Given the description of an element on the screen output the (x, y) to click on. 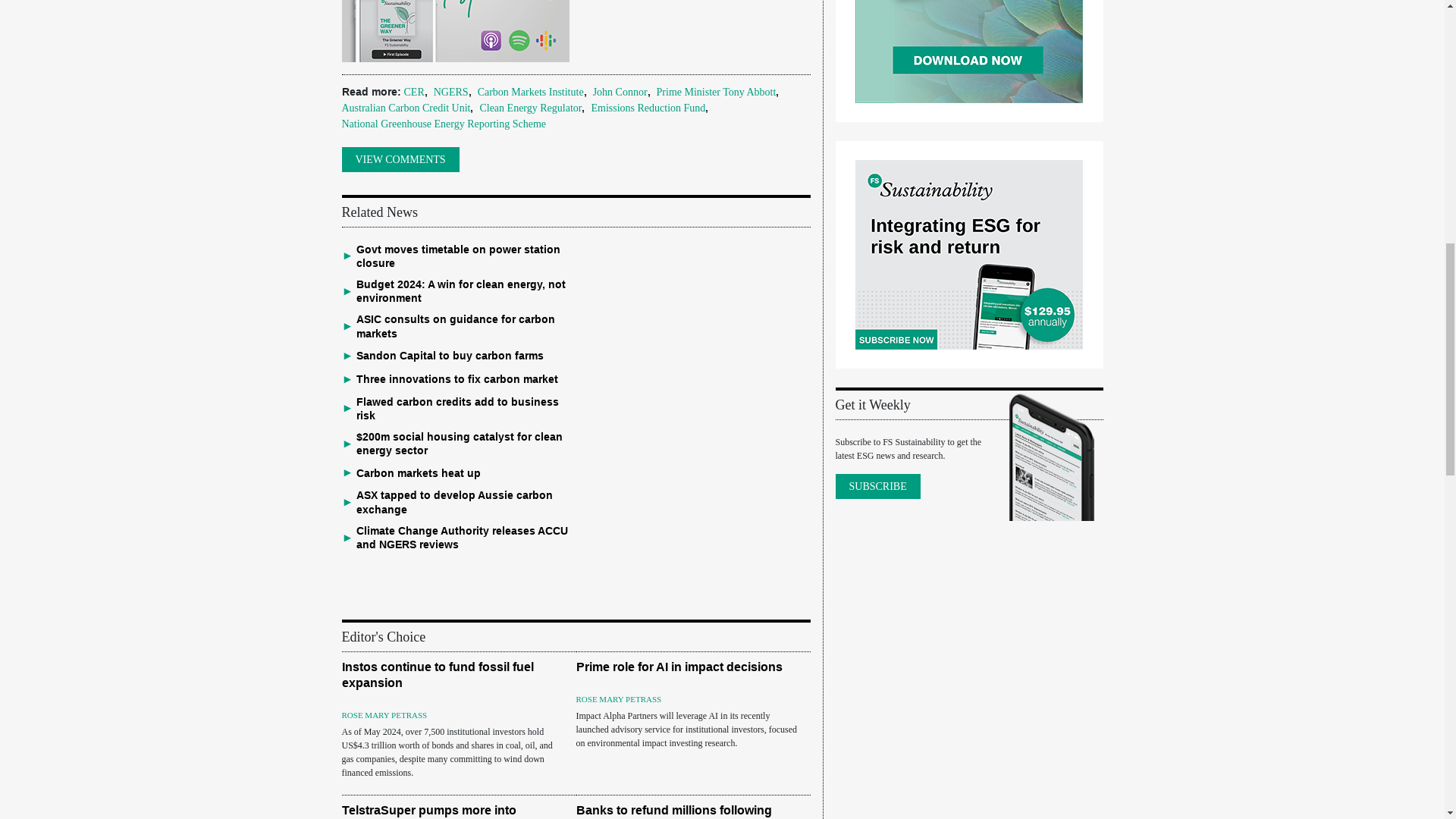
Advertisement (454, 31)
Advertisement (969, 51)
